Given the description of an element on the screen output the (x, y) to click on. 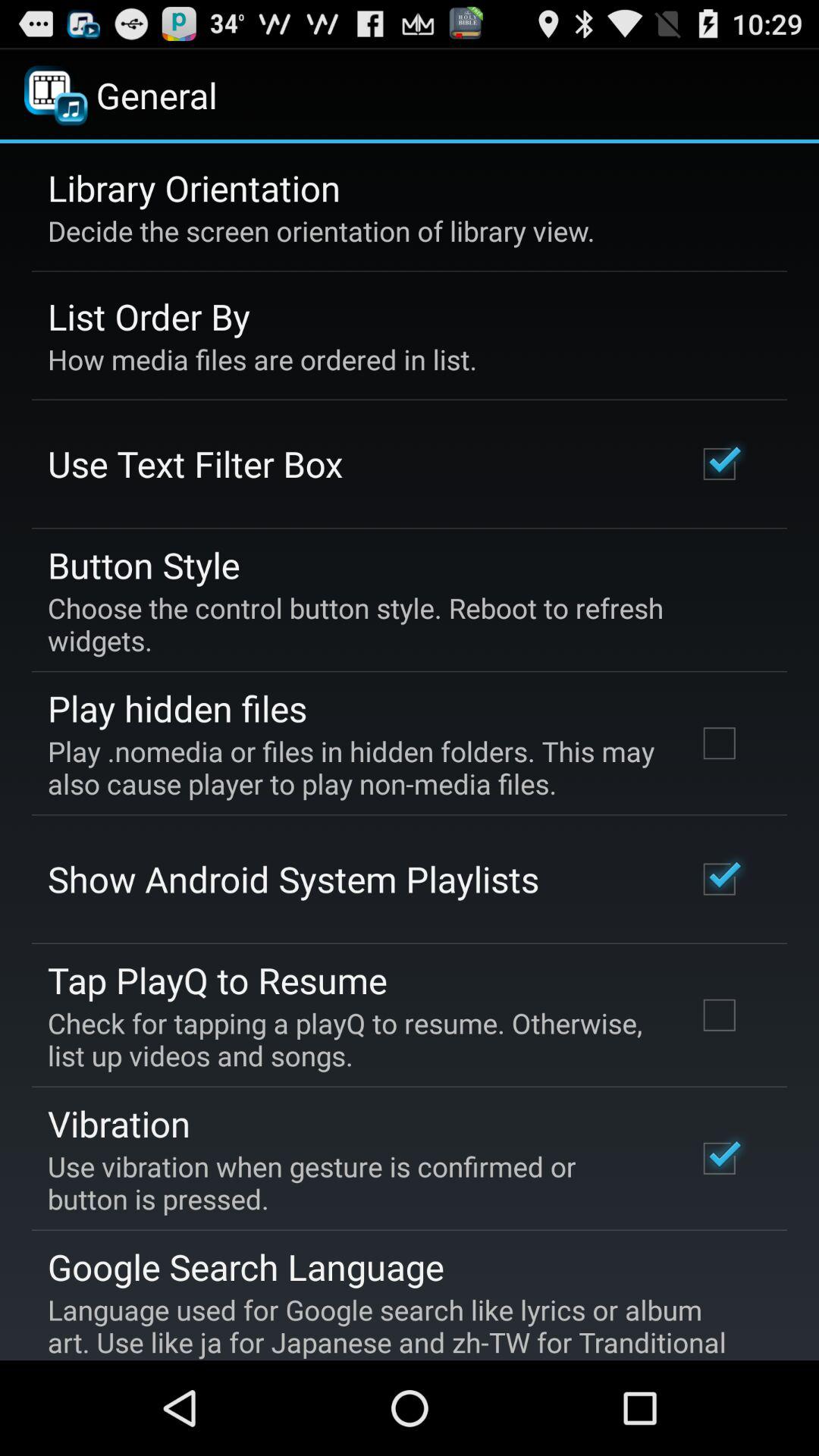
flip to the show android system (293, 878)
